Given the description of an element on the screen output the (x, y) to click on. 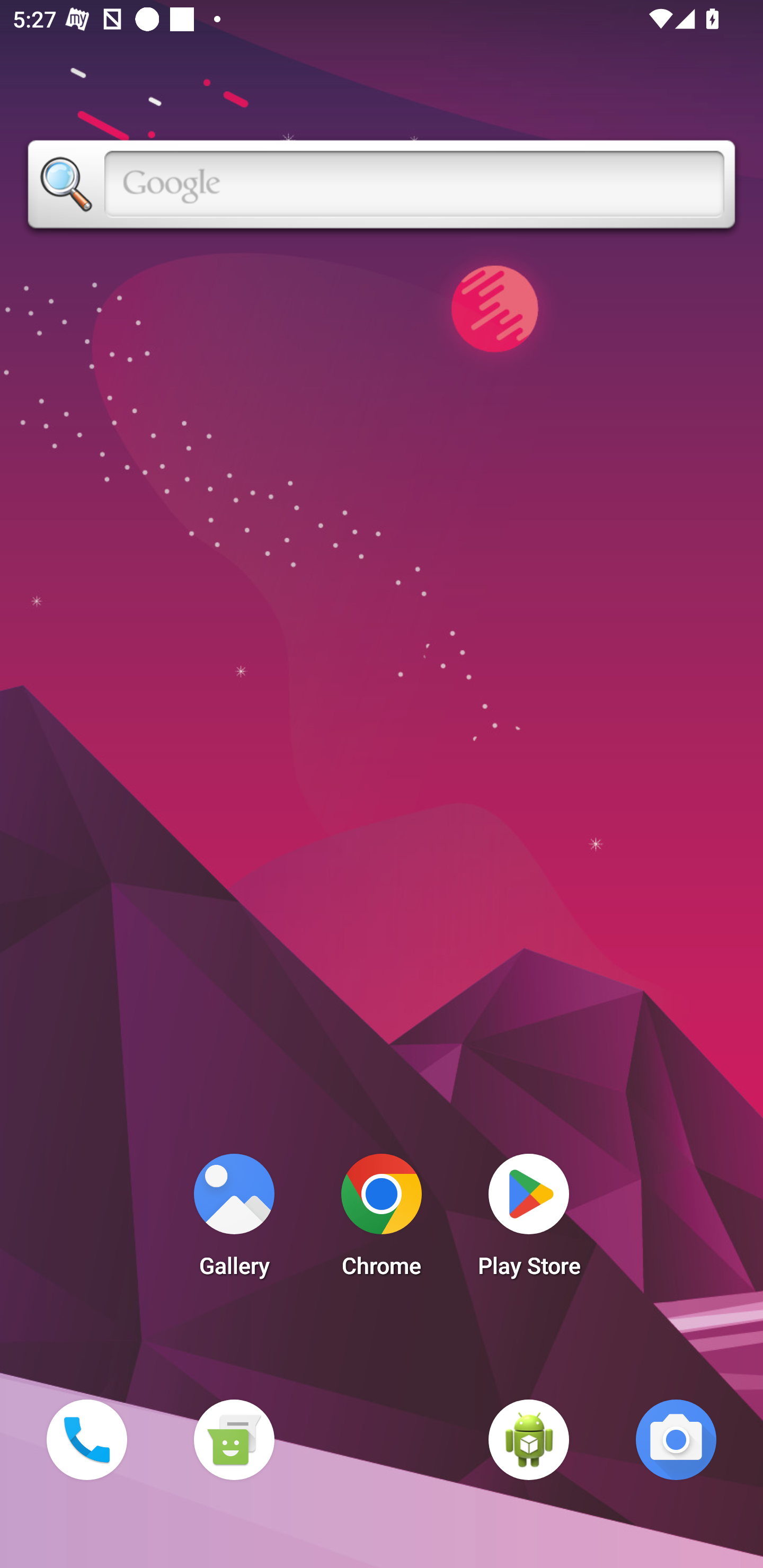
Gallery (233, 1220)
Chrome (381, 1220)
Play Store (528, 1220)
Phone (86, 1439)
Messaging (233, 1439)
WebView Browser Tester (528, 1439)
Camera (676, 1439)
